Given the description of an element on the screen output the (x, y) to click on. 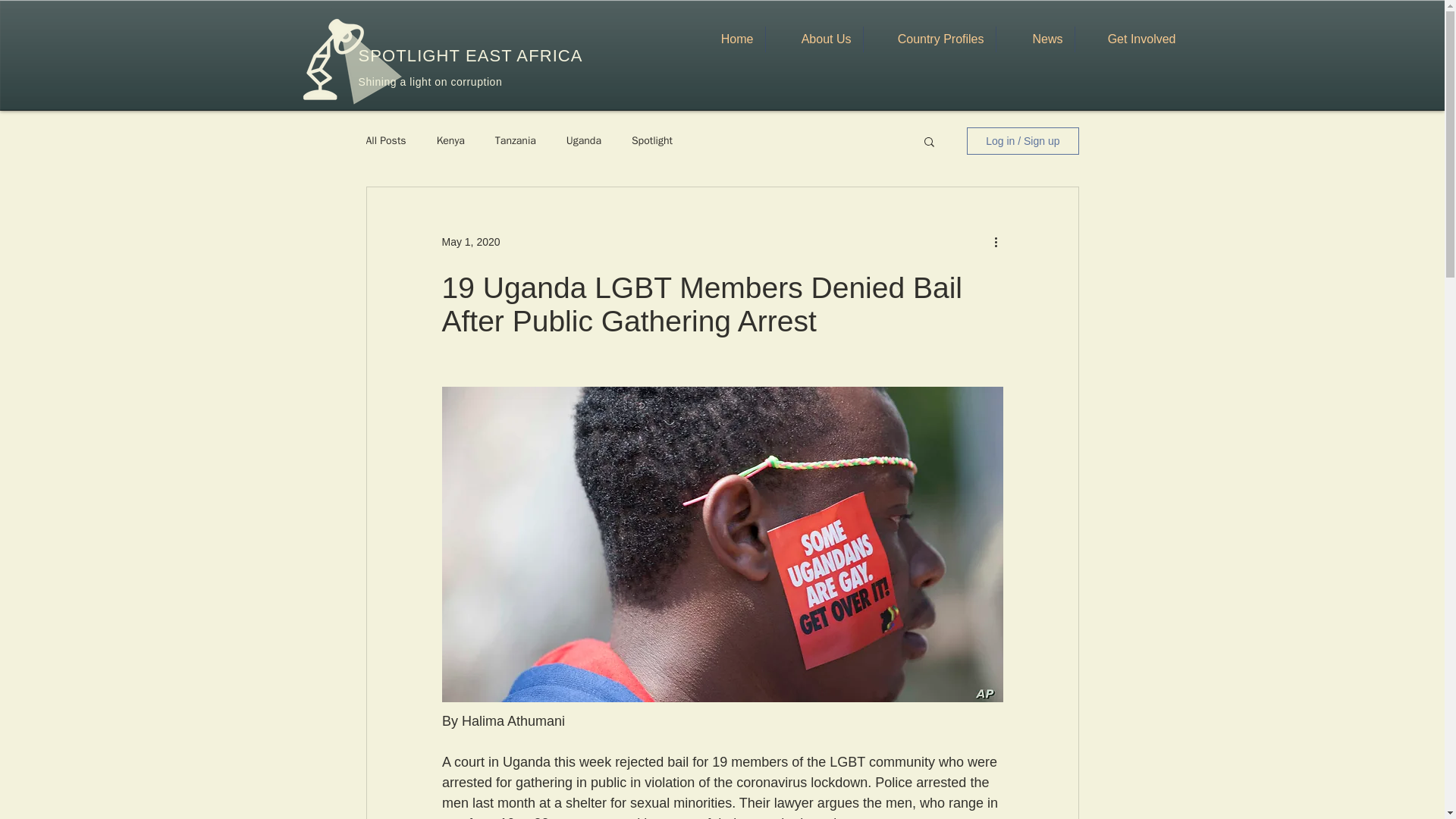
News (1034, 39)
Uganda (583, 141)
Home (724, 39)
SPOTLIGHT EAST AFRICA (470, 55)
Spotlight (651, 141)
May 1, 2020 (470, 241)
About Us (814, 39)
Country Profiles (928, 39)
Tanzania (515, 141)
All Posts (385, 141)
Kenya (450, 141)
Shining a light on corruption (430, 81)
Get Involved (1131, 39)
